Given the description of an element on the screen output the (x, y) to click on. 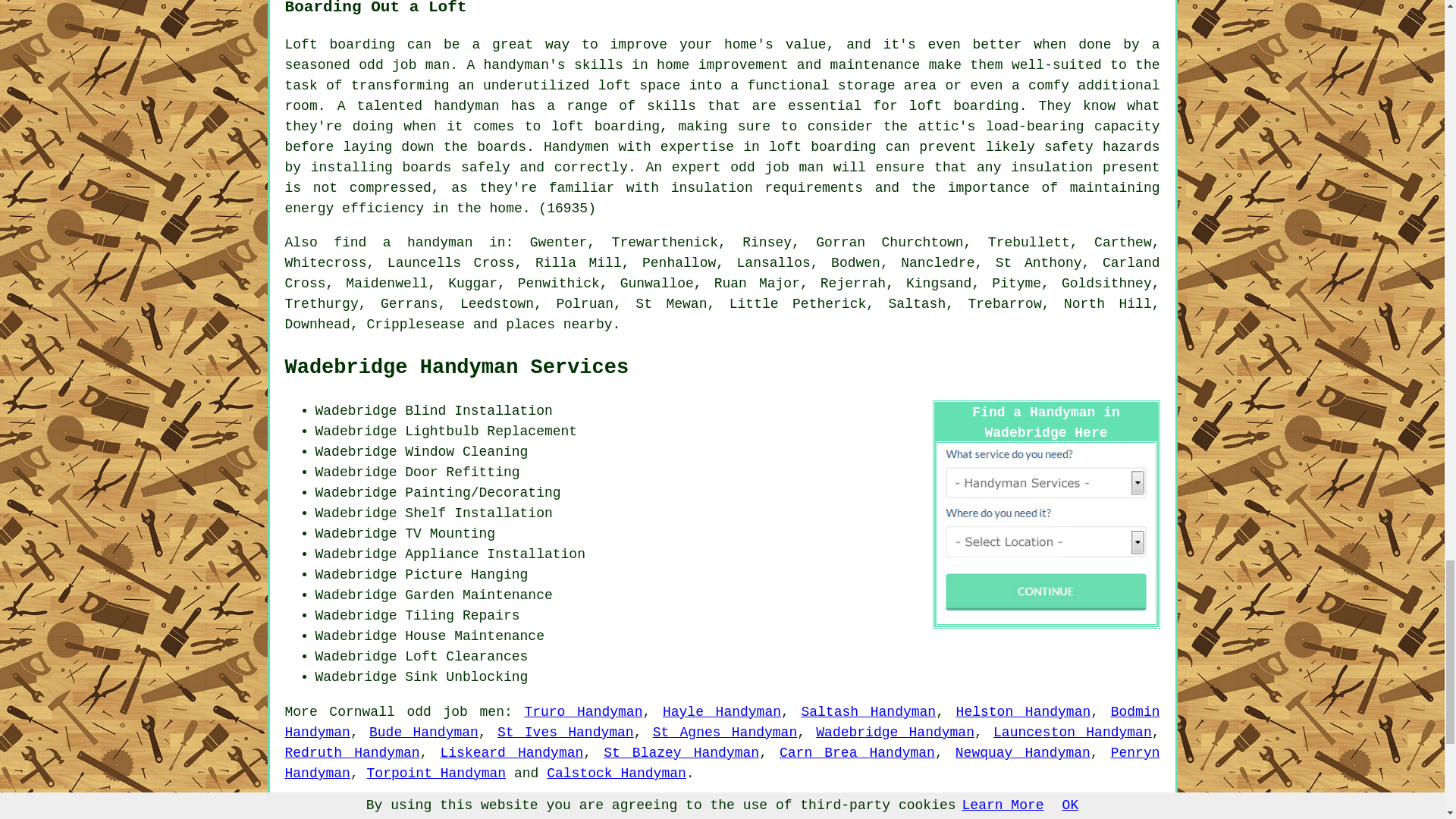
Helston Handyman (1023, 711)
Hayle Handyman (721, 711)
Launceston Handyman (1071, 732)
Newquay Handyman (1022, 752)
Redruth Handyman (352, 752)
Saltash Handyman (868, 711)
Liskeard Handyman (511, 752)
Wadebridge Handyman (894, 732)
St Blazey Handyman (681, 752)
Bodmin Handyman (722, 722)
